Given the description of an element on the screen output the (x, y) to click on. 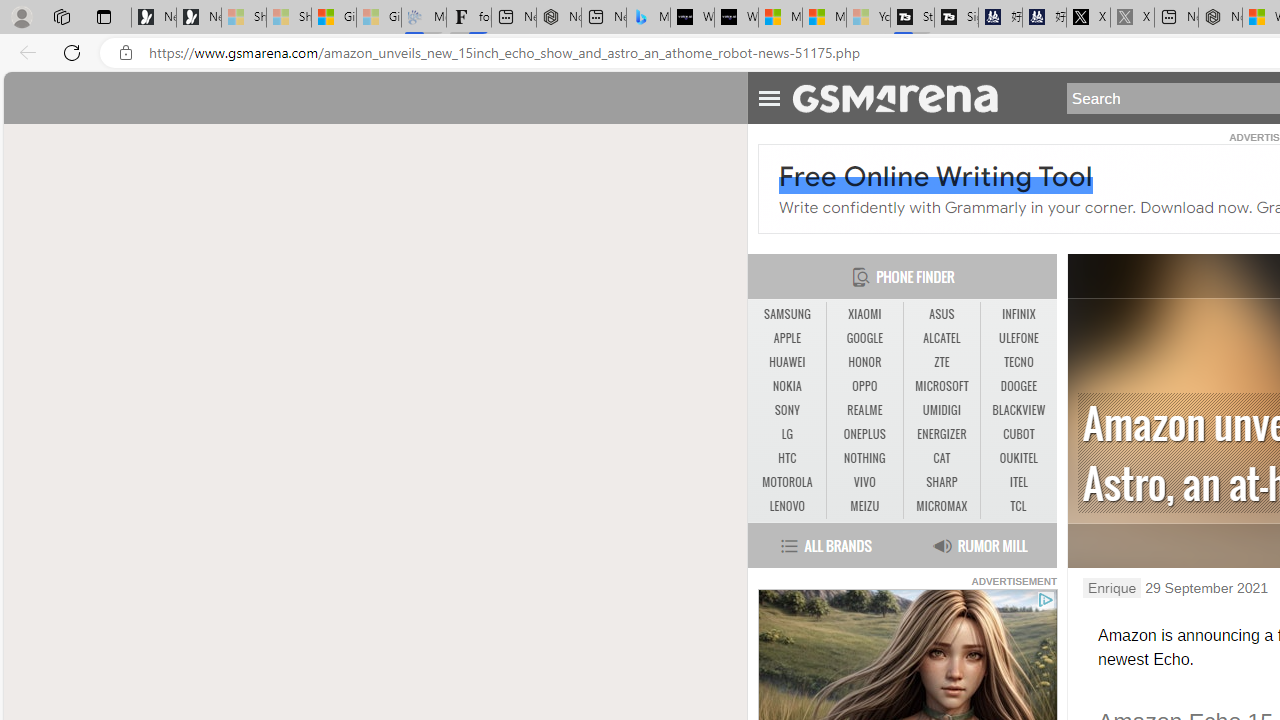
REALME (863, 410)
ULEFONE (1018, 338)
